Given the description of an element on the screen output the (x, y) to click on. 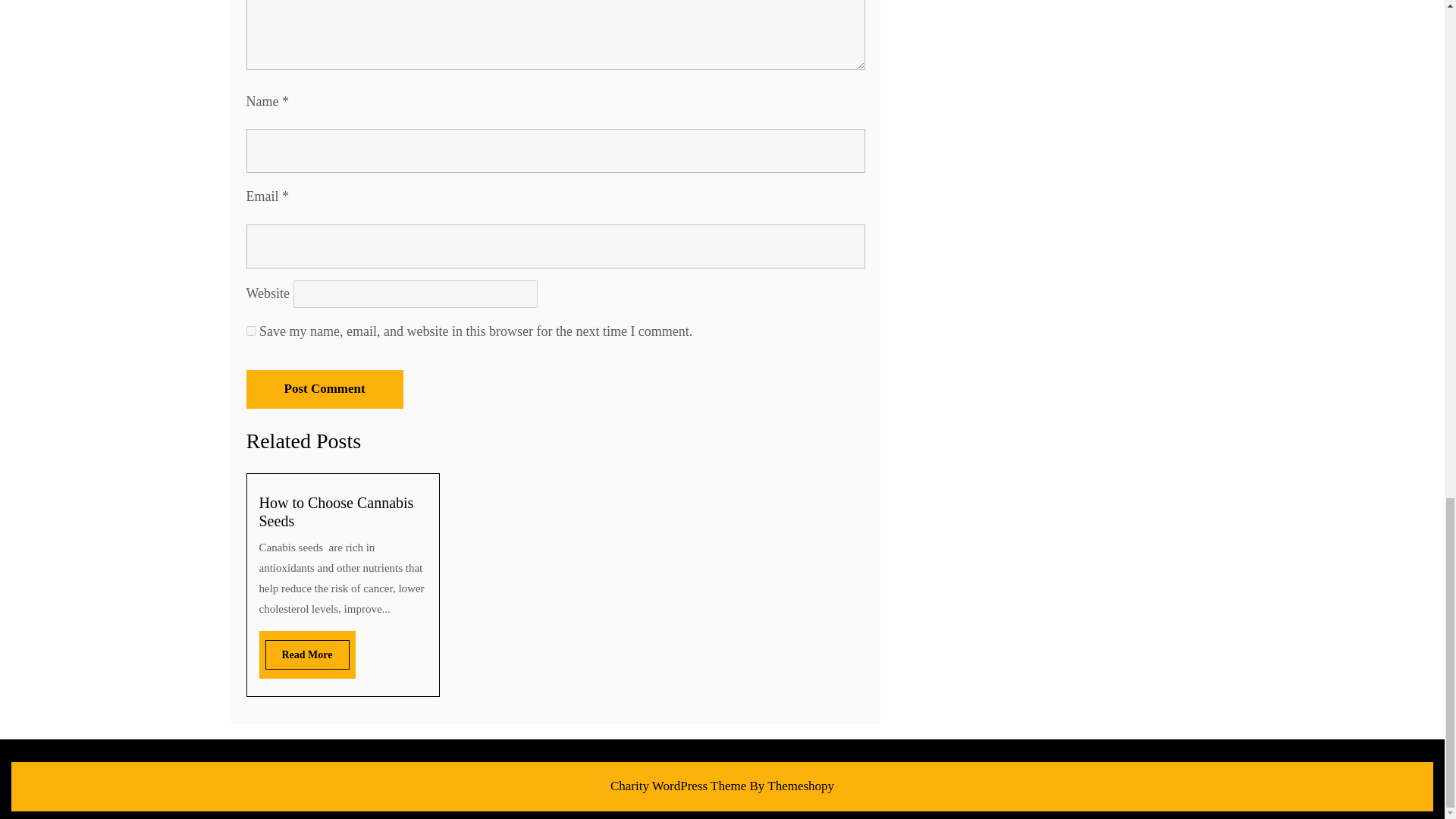
Read More (306, 654)
Post Comment (324, 389)
yes (251, 330)
How to Choose Cannabis Seeds (336, 511)
Read More (306, 654)
Charity WordPress Theme (677, 785)
Post Comment (324, 389)
